Given the description of an element on the screen output the (x, y) to click on. 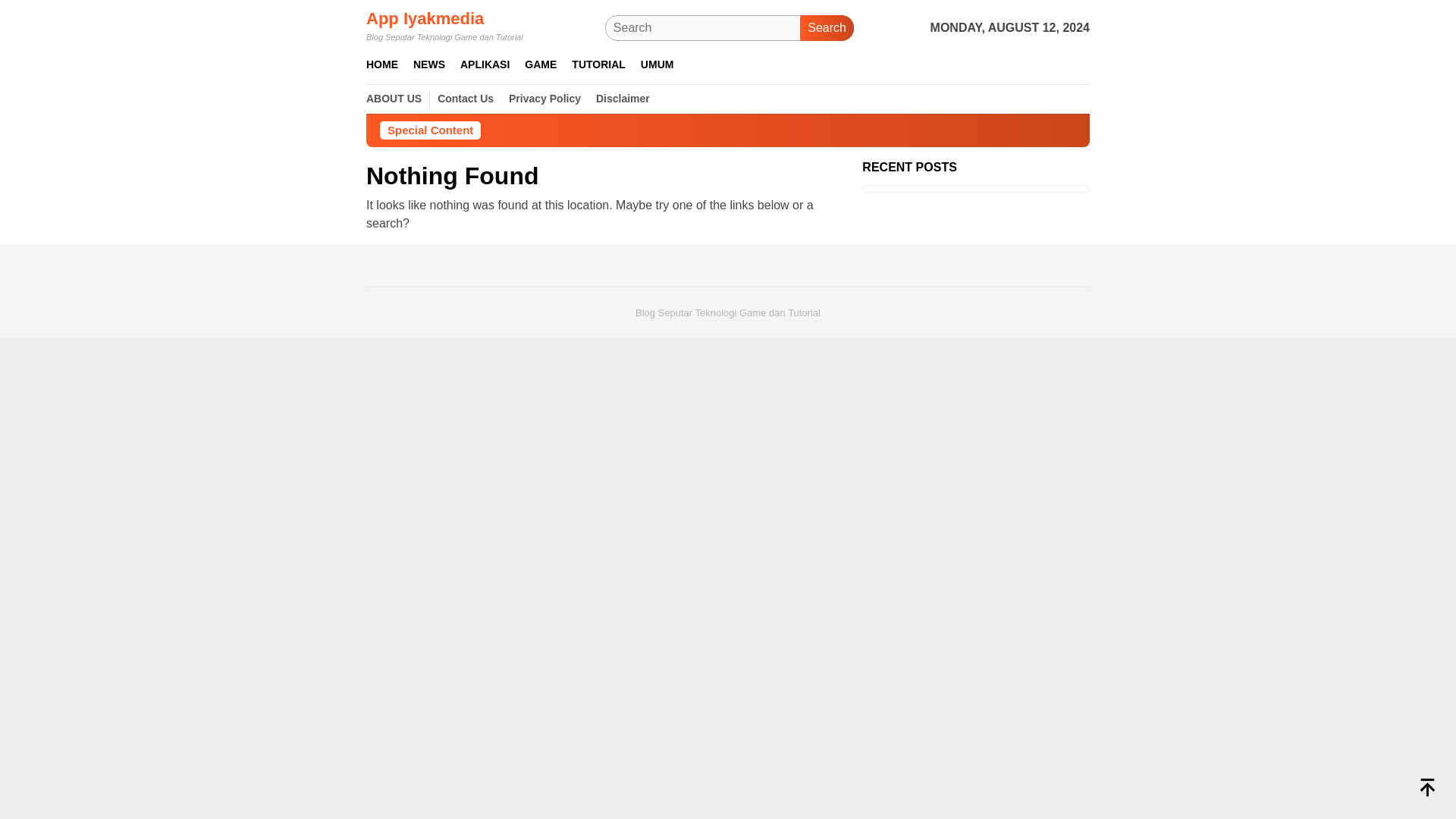
NEWS (429, 64)
App Iyakmedia (424, 18)
App Iyakmedia (424, 18)
Disclaimer (623, 98)
Search (826, 27)
GAME (540, 64)
TUTORIAL (598, 64)
HOME (382, 64)
Privacy Policy (544, 98)
ABOUT US (393, 98)
